Given the description of an element on the screen output the (x, y) to click on. 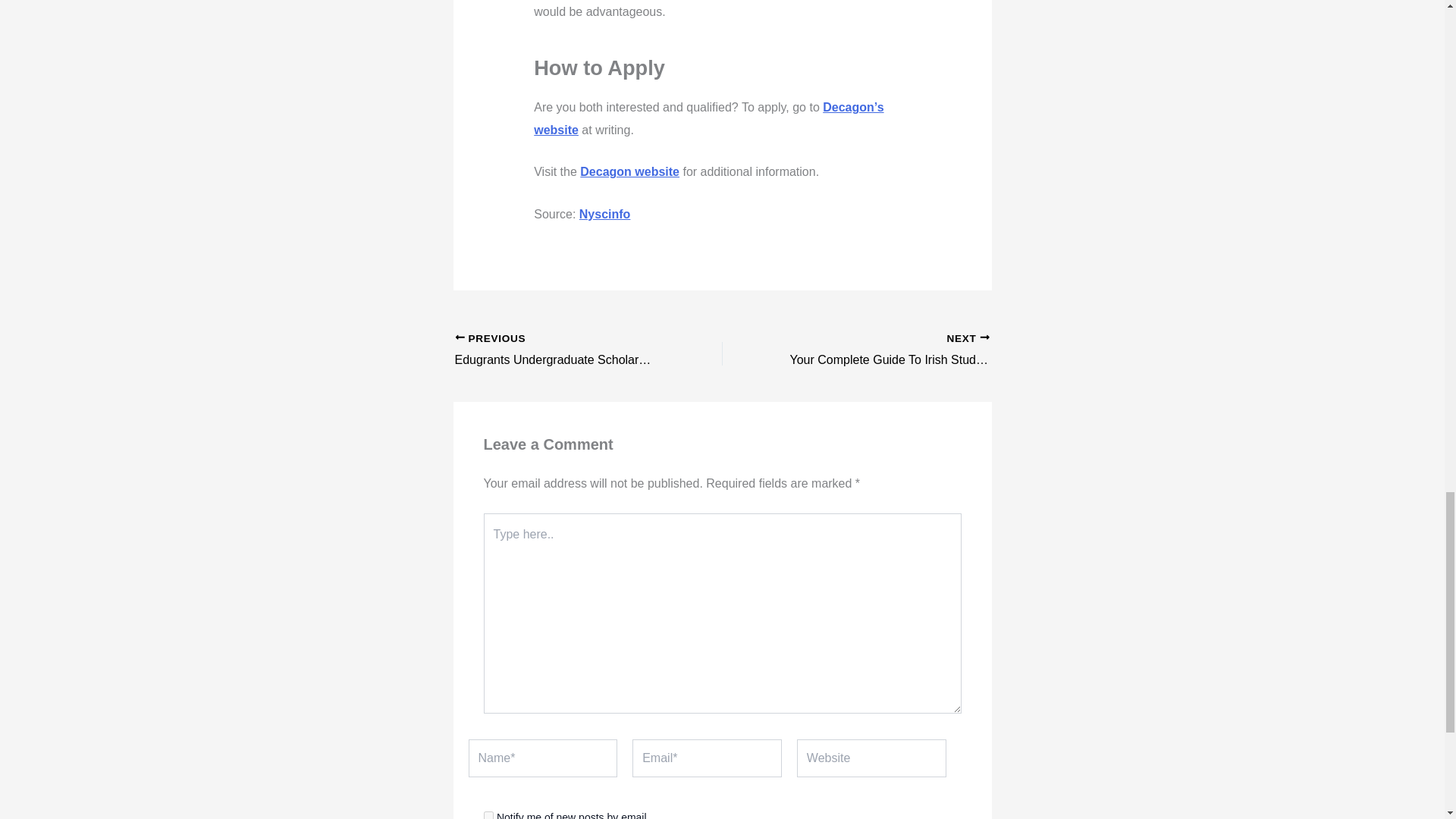
Nyscinfo (604, 214)
Edugrants Undergraduate Scholarship For Nigerians (561, 351)
Your Complete Guide To Irish Student Visa In Nigeria (882, 351)
Decagon website (629, 171)
subscribe (561, 351)
